Given the description of an element on the screen output the (x, y) to click on. 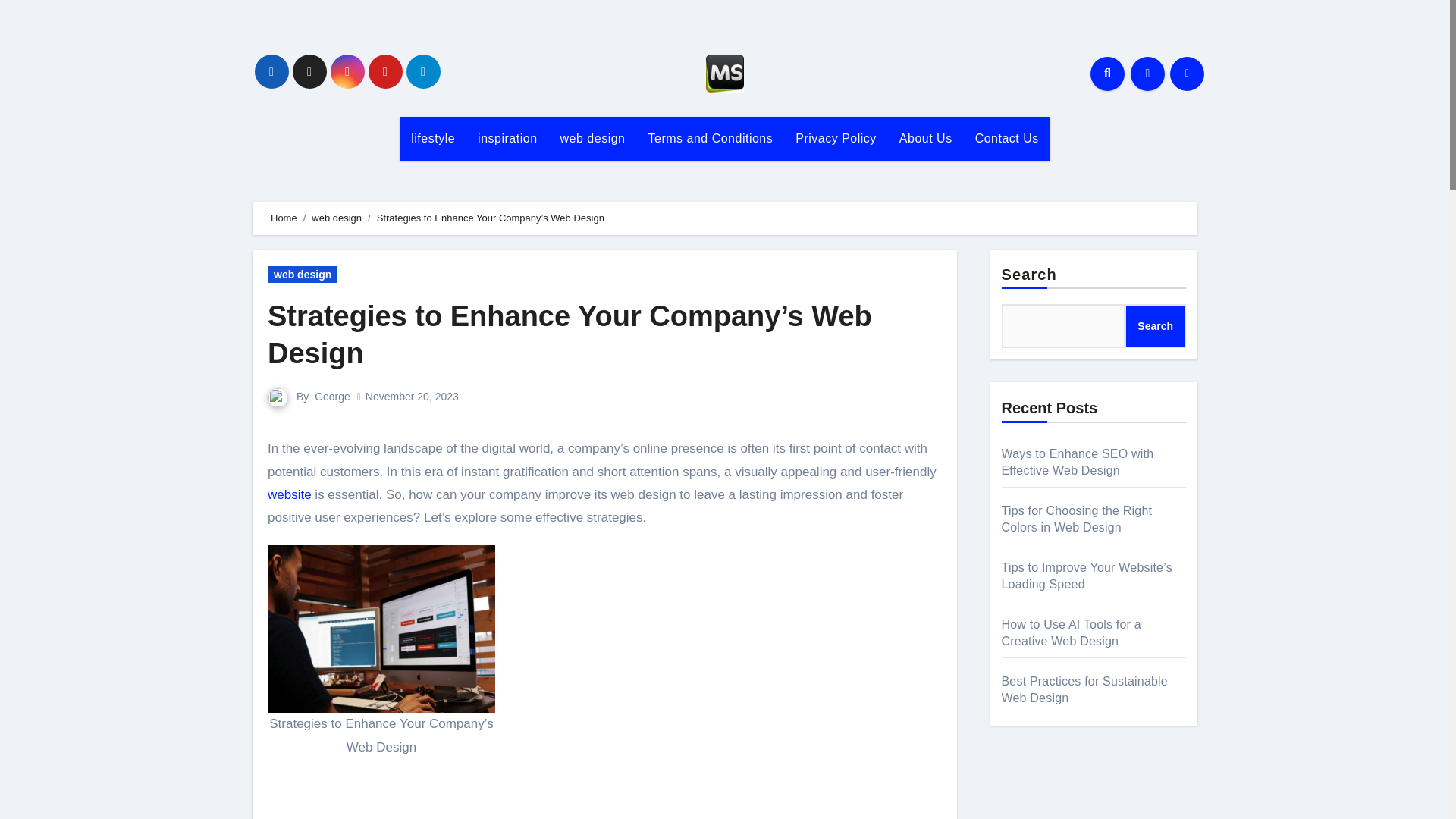
lifestyle (431, 138)
About Us (925, 138)
web design (592, 138)
Contact Us (1006, 138)
Privacy Policy (836, 138)
George (332, 396)
Contact Us (1006, 138)
web design (302, 274)
lifestyle (431, 138)
website (289, 494)
About Us (925, 138)
Terms and Conditions (710, 138)
Privacy Policy (836, 138)
Home (283, 217)
web design (592, 138)
